Given the description of an element on the screen output the (x, y) to click on. 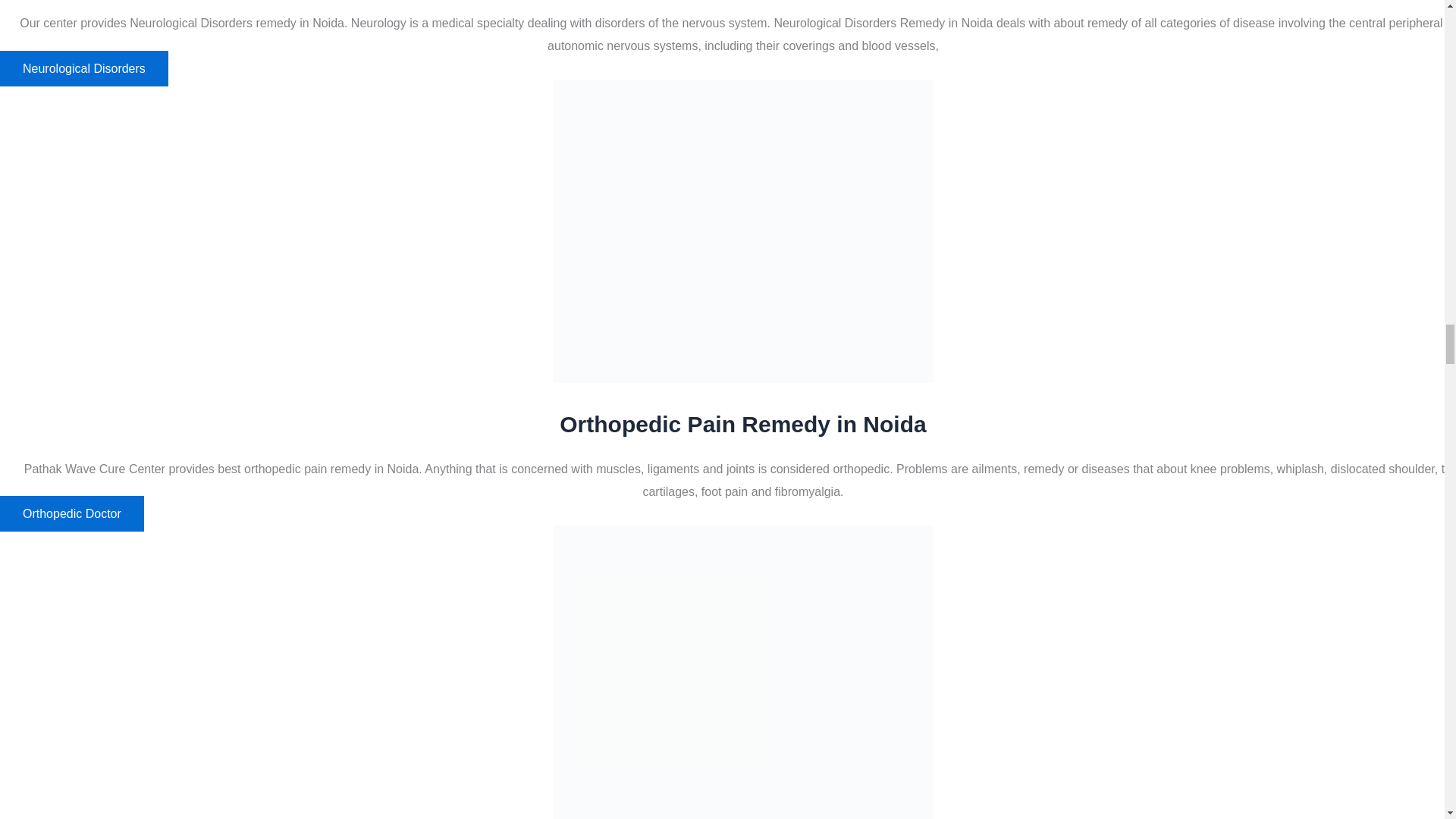
Neurological Disorders (84, 68)
Orthopedic Doctor (72, 513)
